Given the description of an element on the screen output the (x, y) to click on. 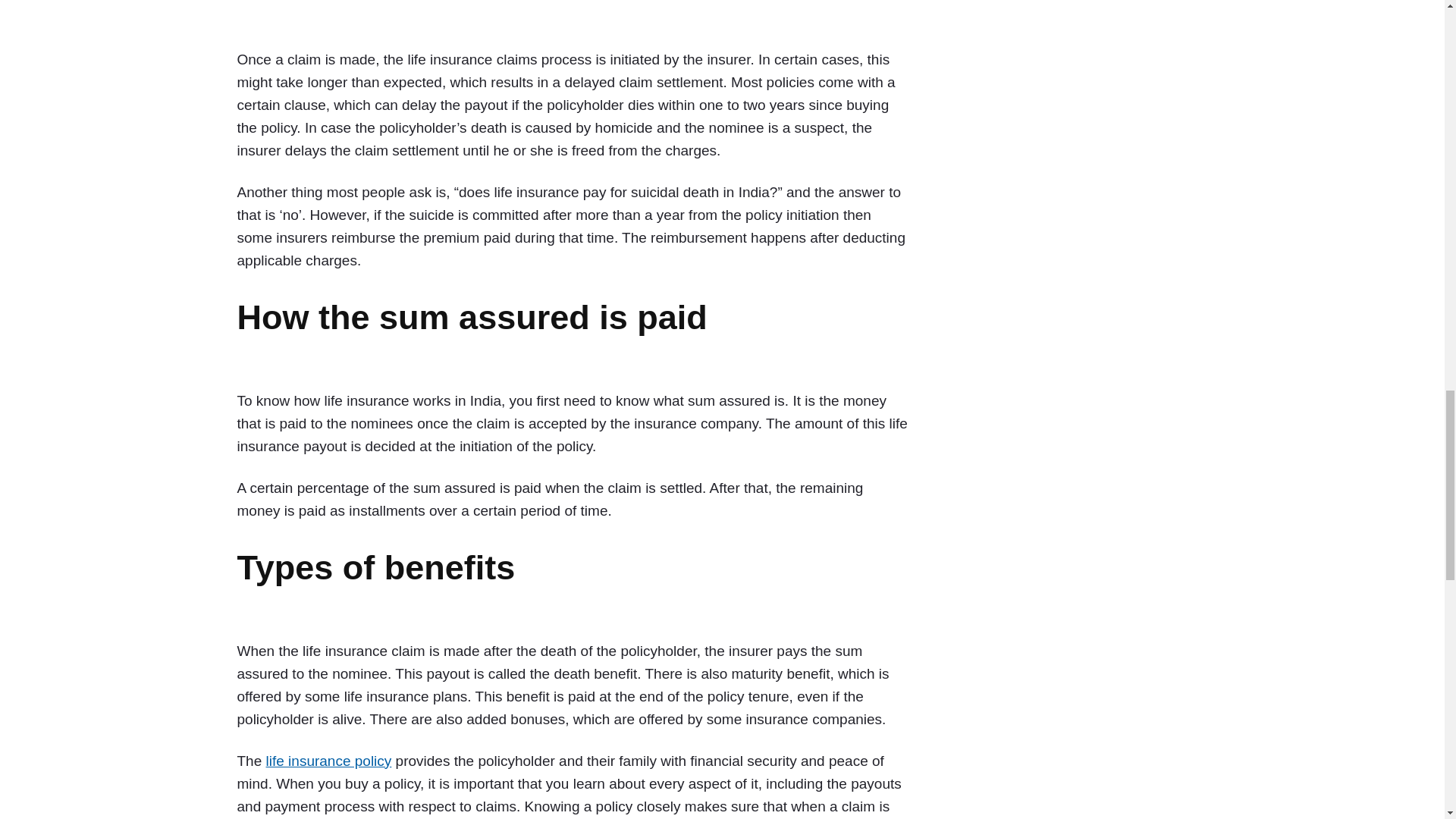
life insurance policy (328, 760)
